Given the description of an element on the screen output the (x, y) to click on. 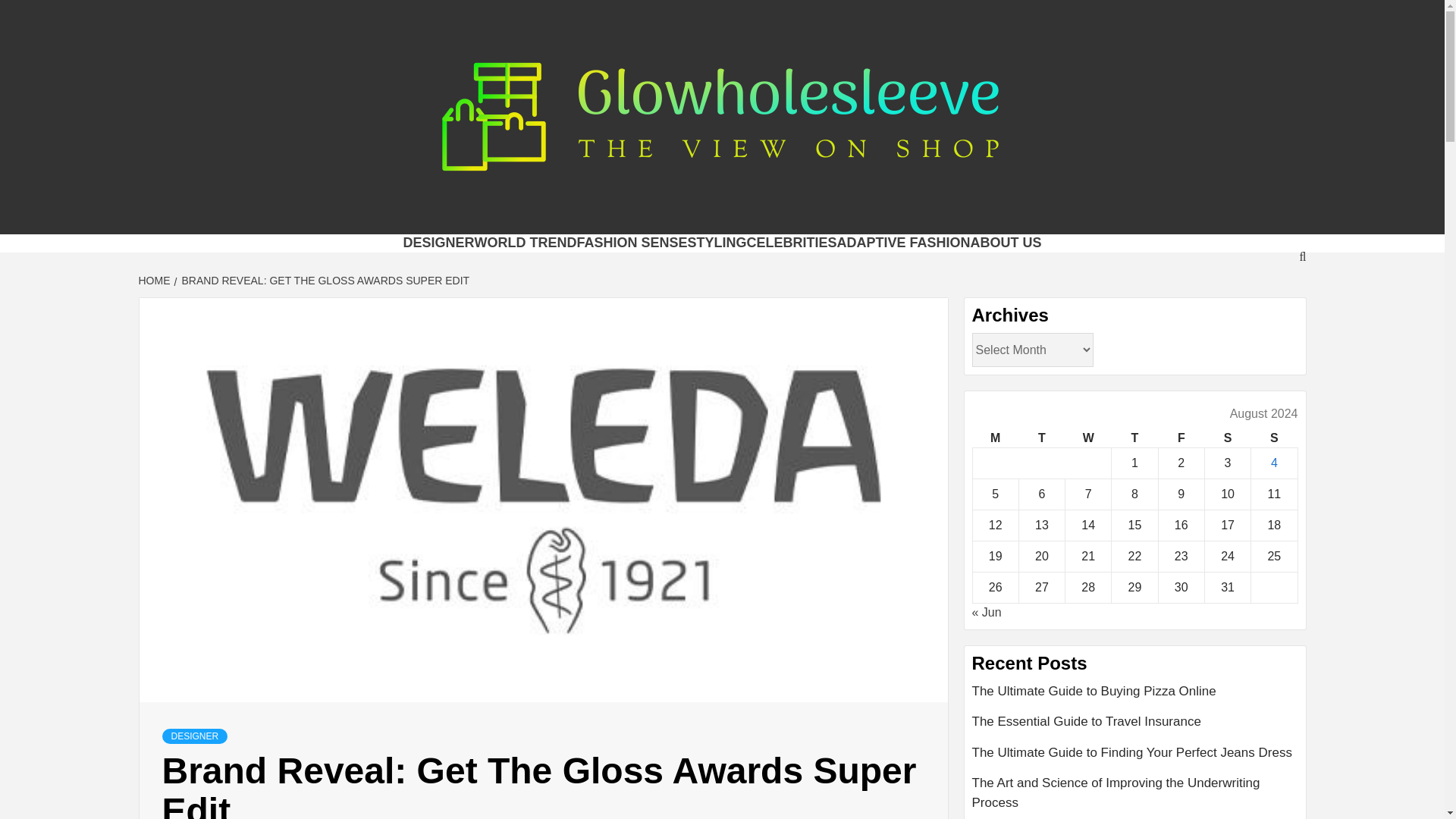
Sunday (1273, 438)
The Art and Science of Improving the Underwriting Process (1135, 796)
WORLD TREND (525, 242)
FASHION SENSE (631, 242)
DESIGNER (438, 242)
Tuesday (1040, 438)
DESIGNER (194, 735)
STYLING (716, 242)
Friday (1180, 438)
ADAPTIVE FASHION (904, 242)
